Given the description of an element on the screen output the (x, y) to click on. 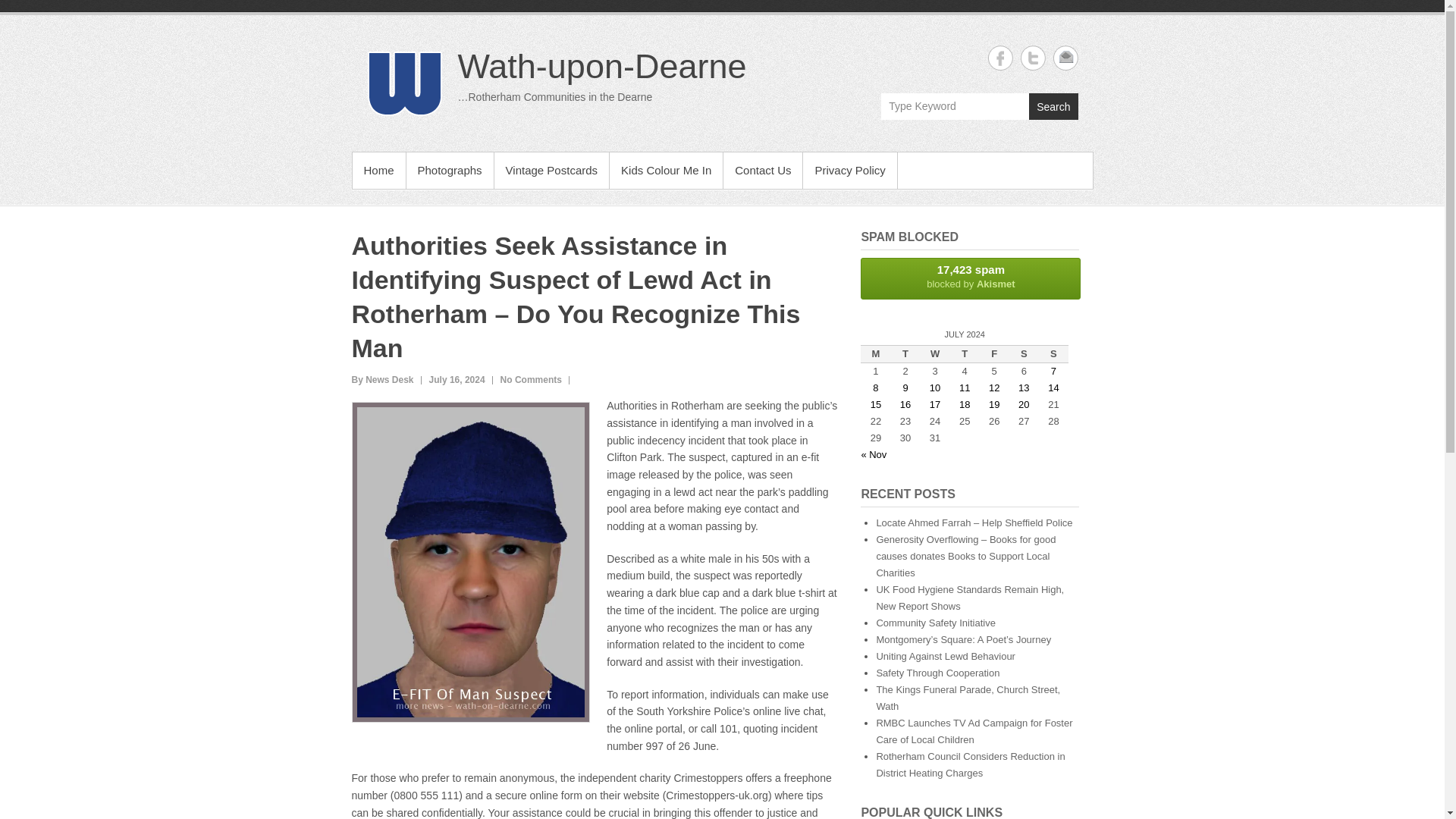
15 (875, 404)
10 (935, 387)
Monday (874, 353)
News Desk (382, 379)
Wath-upon-Dearne (602, 65)
14 (1053, 387)
Search (1053, 106)
Wath-upon-Dearne Twitter (1032, 57)
Saturday (1024, 353)
17 (935, 404)
Tuesday (904, 353)
Privacy Policy (970, 278)
Contact Us (849, 170)
Sunday (762, 170)
